Given the description of an element on the screen output the (x, y) to click on. 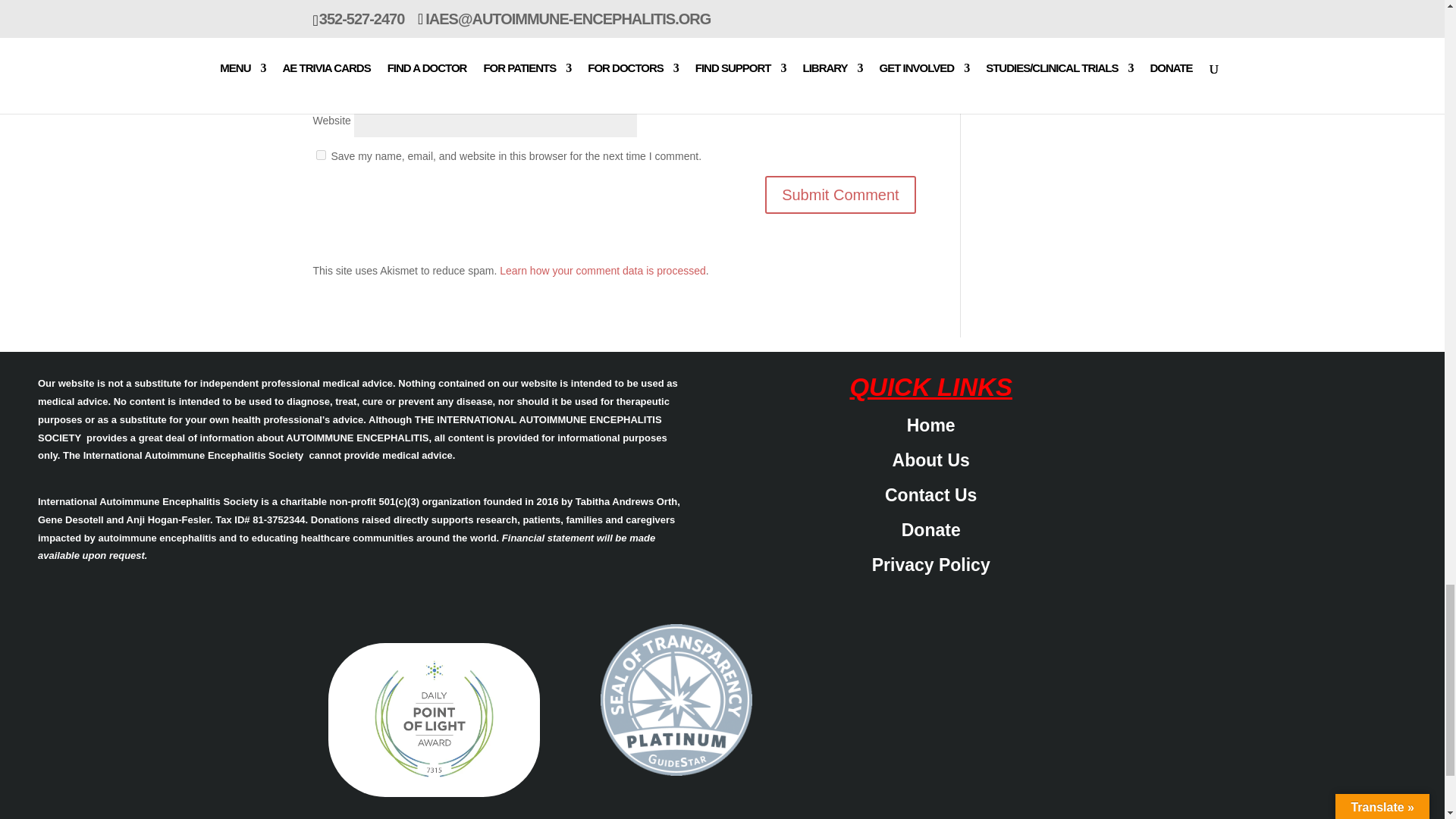
yes (319, 154)
Submit Comment (840, 194)
guidestar-platinum-logo-300x300 (675, 699)
Tabitha Orth (434, 719)
